Given the description of an element on the screen output the (x, y) to click on. 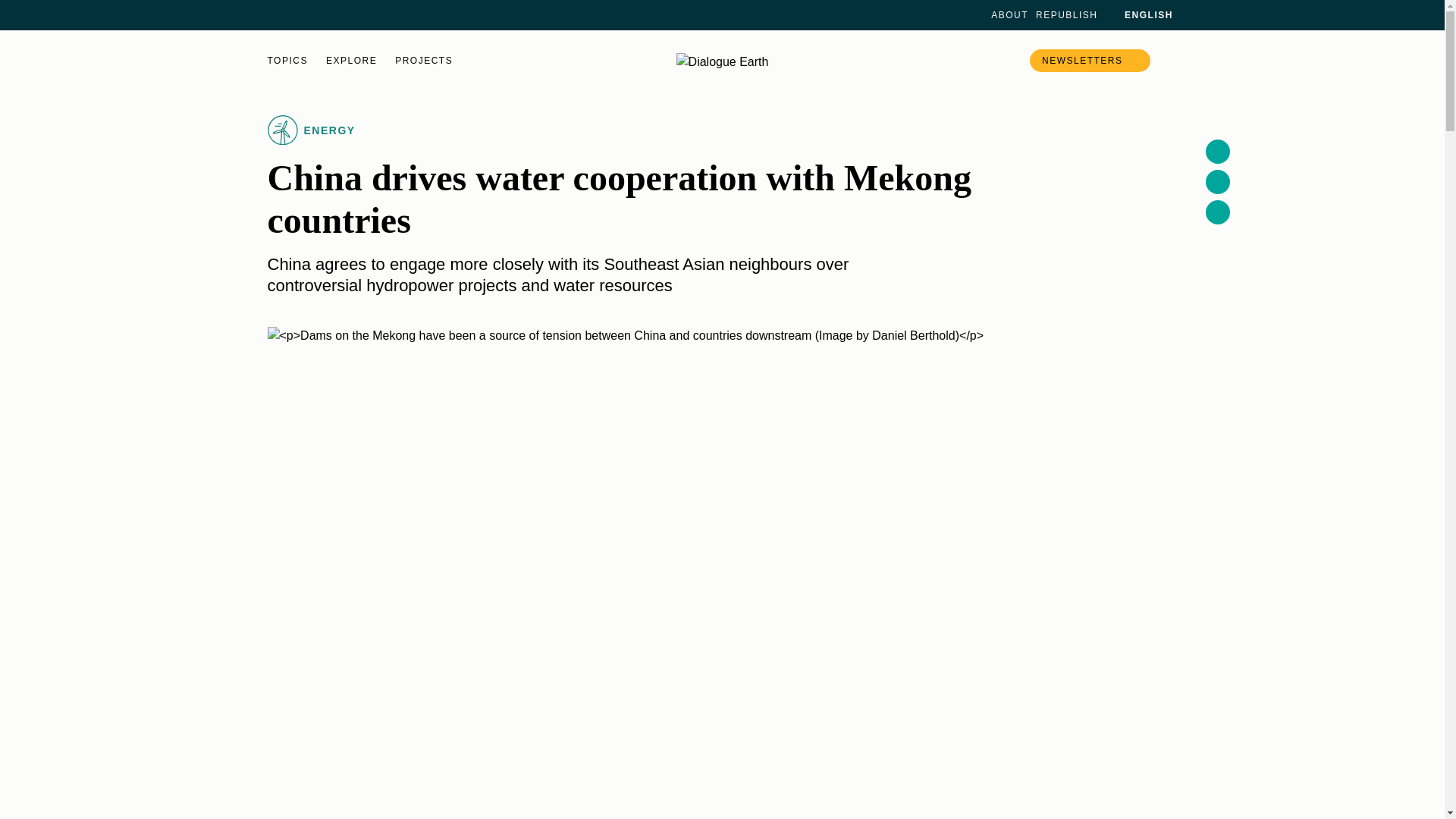
ENGLISH (1139, 15)
REPUBLISH (1066, 14)
English (1139, 15)
EXPLORE (351, 60)
TOPICS (286, 60)
ABOUT (1009, 14)
